Given the description of an element on the screen output the (x, y) to click on. 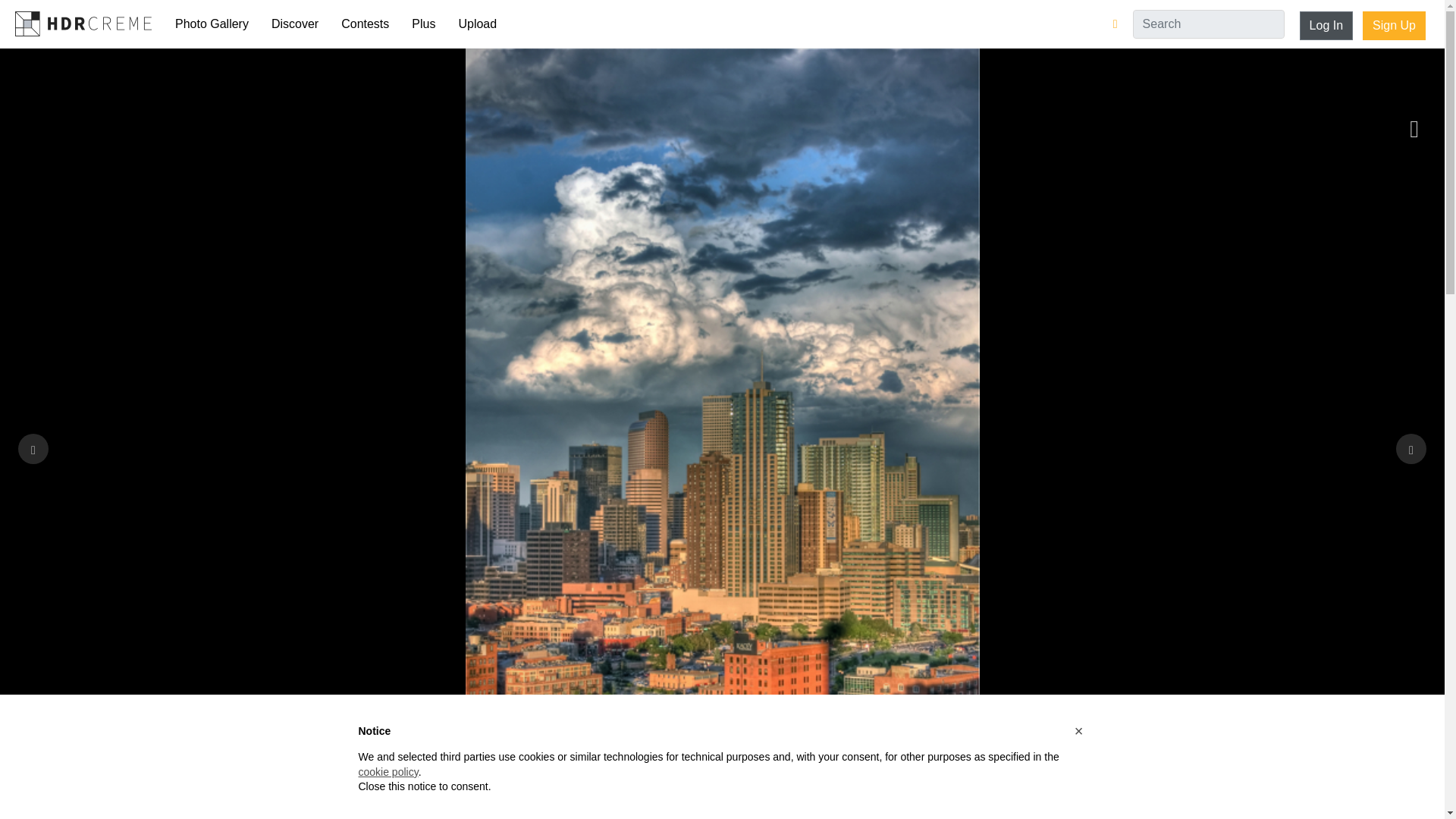
Log In (1326, 25)
hdrcreme logo (82, 23)
Contests (365, 24)
Home Page (82, 23)
Next Picture (1411, 449)
Photo Gallery (211, 24)
Plus (423, 24)
Upload (477, 24)
Discover (295, 24)
hdrcreme logo (82, 23)
Previous Picture (32, 449)
Sign Up (1393, 25)
